Given the description of an element on the screen output the (x, y) to click on. 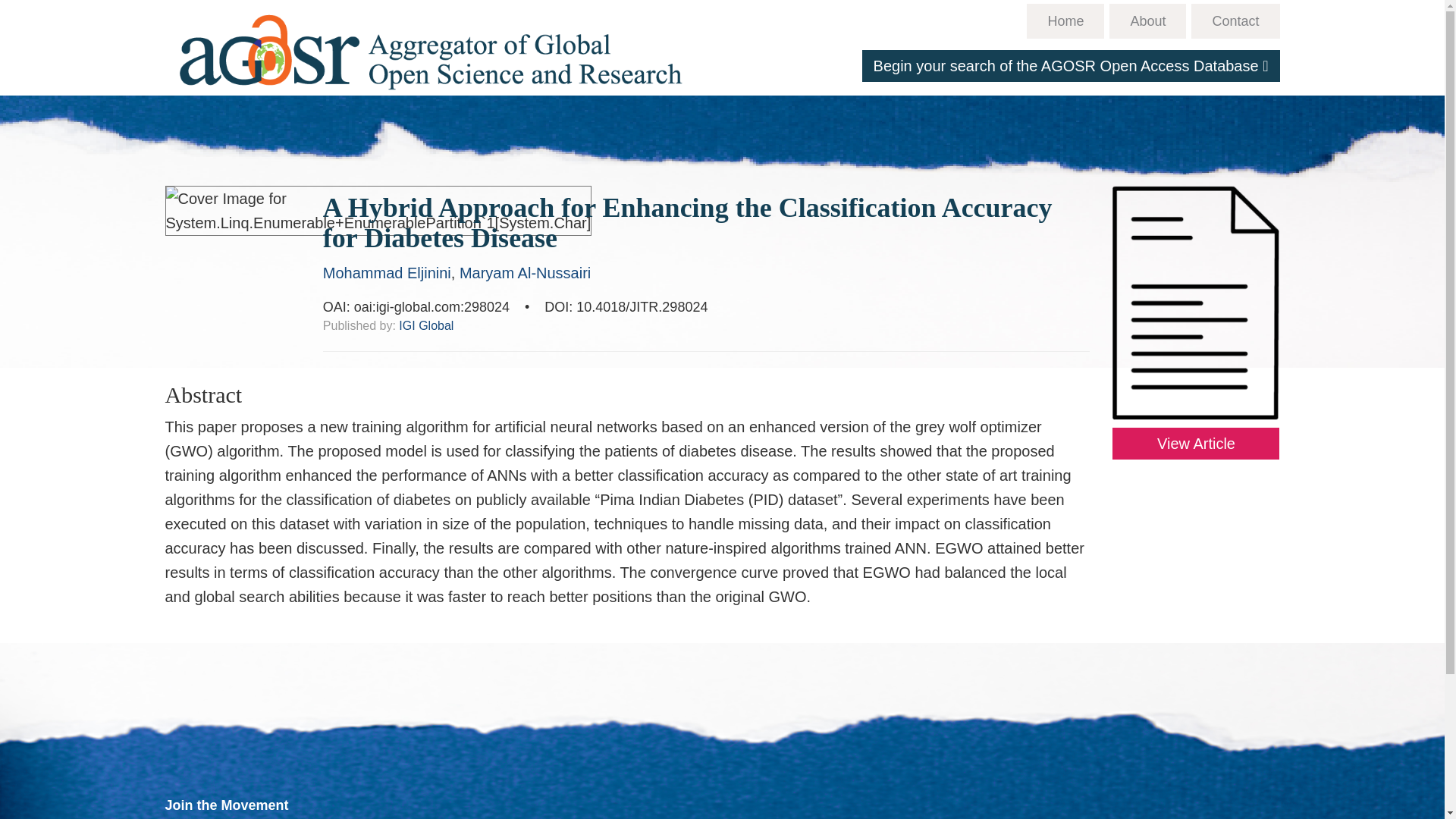
Mohammad Eljinini (387, 272)
Begin your search of the AGOSR Open Access Database (1070, 65)
Maryam Al-Nussairi (525, 272)
Contact (1235, 21)
Home (1064, 21)
About (1147, 21)
IGI Global (425, 325)
Home (430, 45)
View Article (1195, 443)
